Given the description of an element on the screen output the (x, y) to click on. 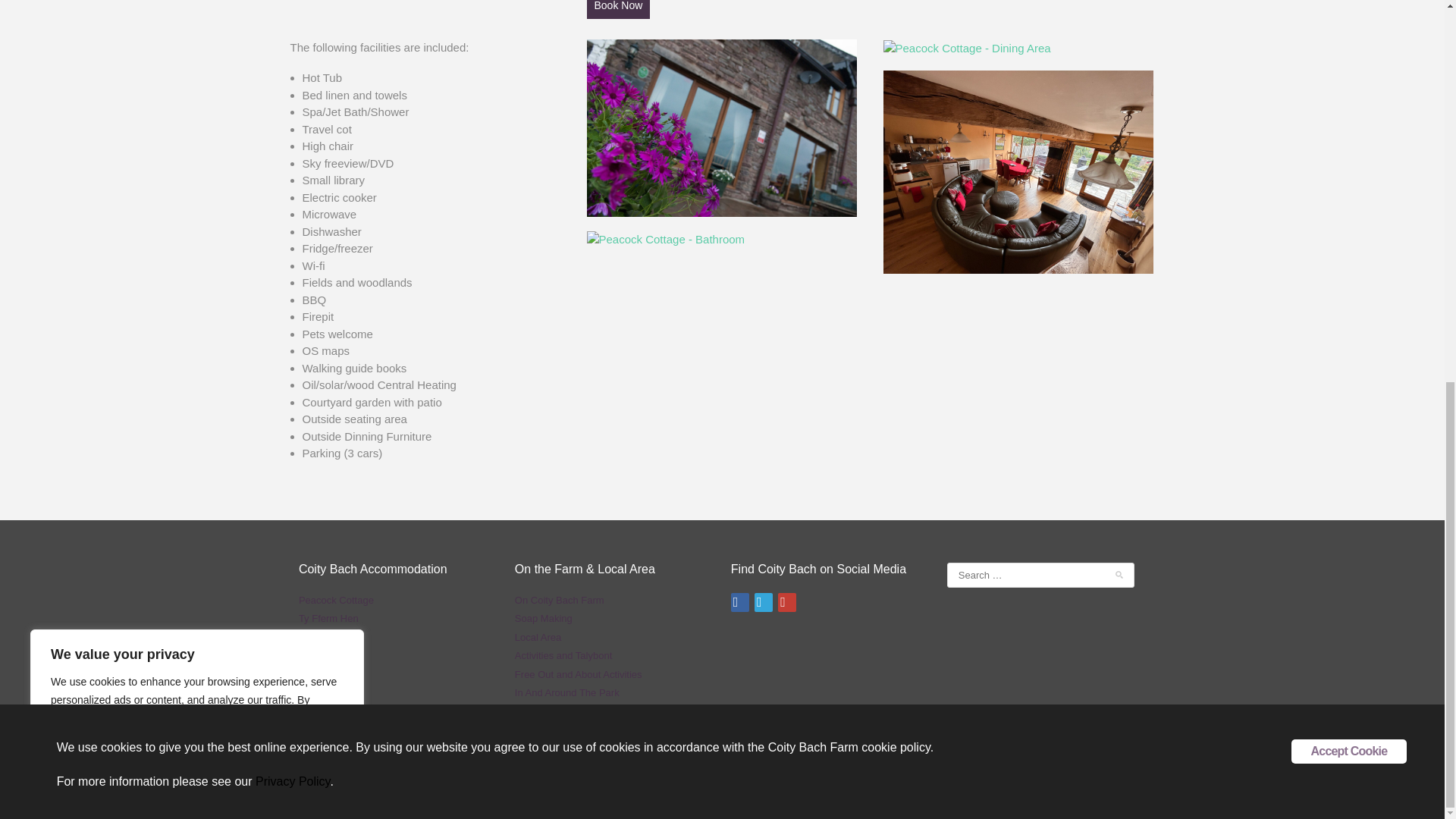
Accept All (296, 41)
Ty Fferm Hen (328, 618)
Customize (98, 41)
Peacock Cottage (336, 600)
Reject All (198, 41)
Book Now (618, 9)
Ty Nofio (316, 636)
